Given the description of an element on the screen output the (x, y) to click on. 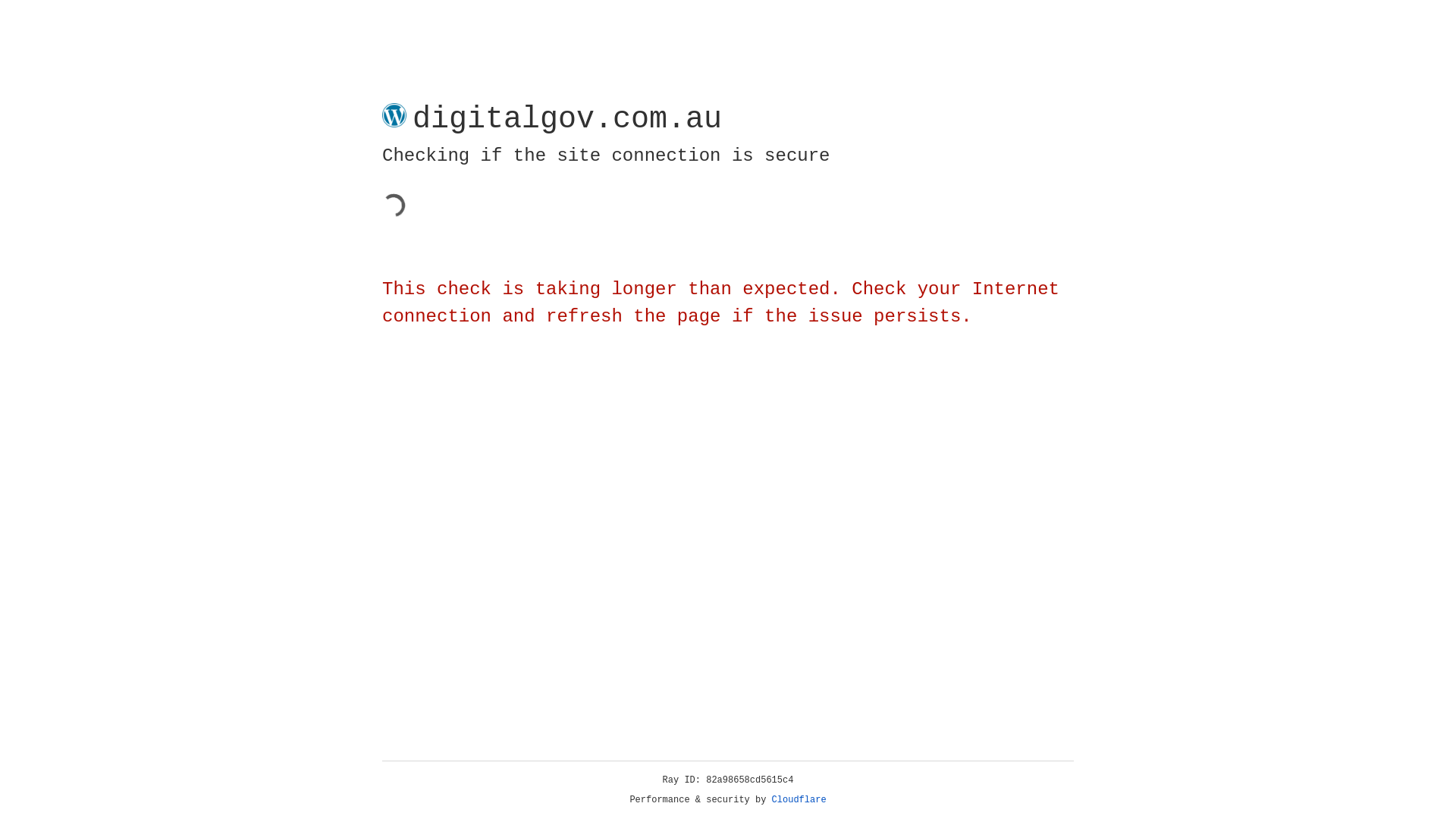
Cloudflare Element type: text (798, 799)
